Given the description of an element on the screen output the (x, y) to click on. 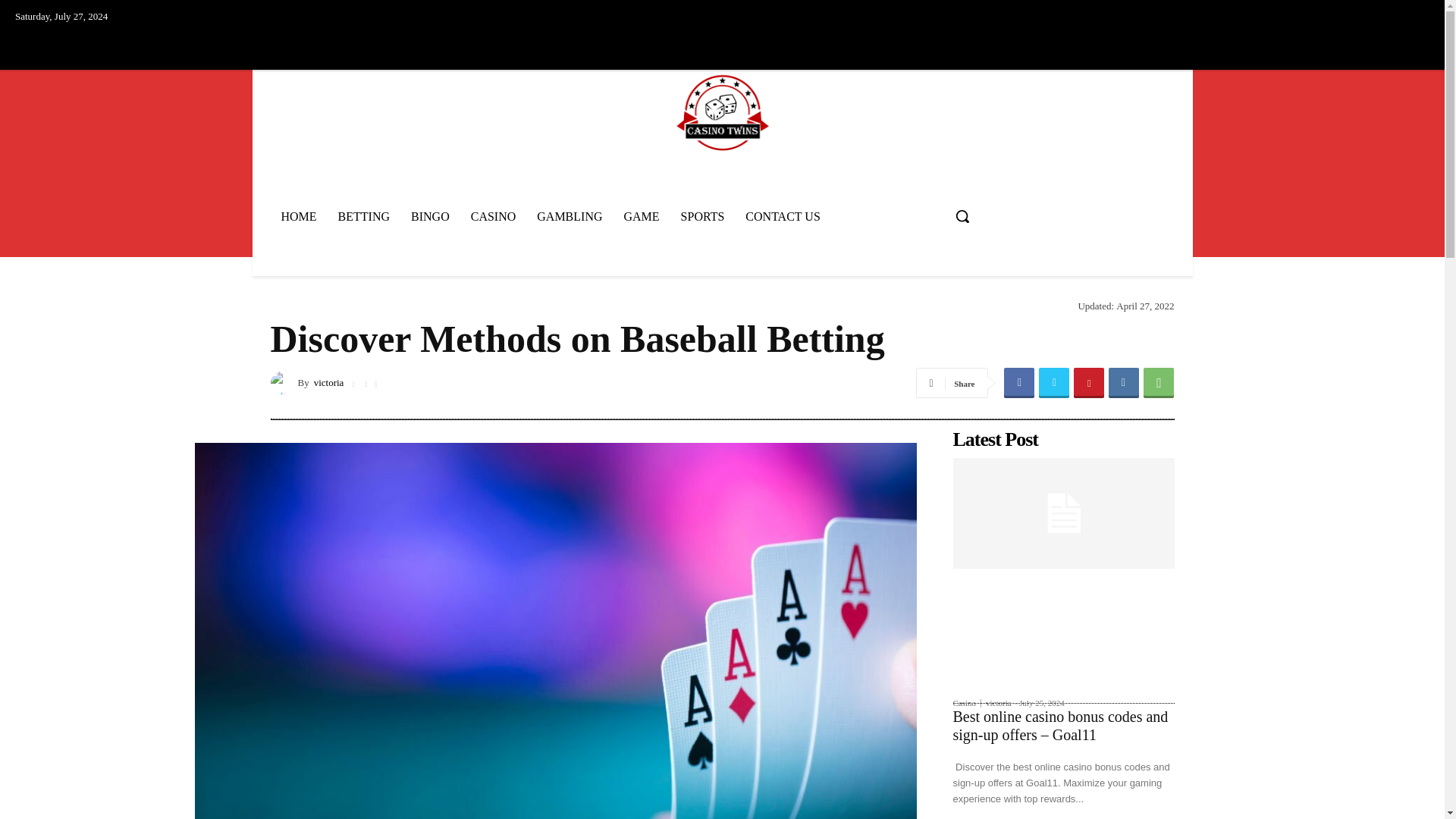
victoria (328, 382)
victoria (283, 382)
CONTACT US (782, 216)
VK (1123, 382)
Twitter (1053, 382)
GAMBLING (568, 216)
SPORTS (702, 216)
HOME (297, 216)
Facebook (1018, 382)
WhatsApp (1157, 382)
BINGO (430, 216)
CASINO (493, 216)
